Given the description of an element on the screen output the (x, y) to click on. 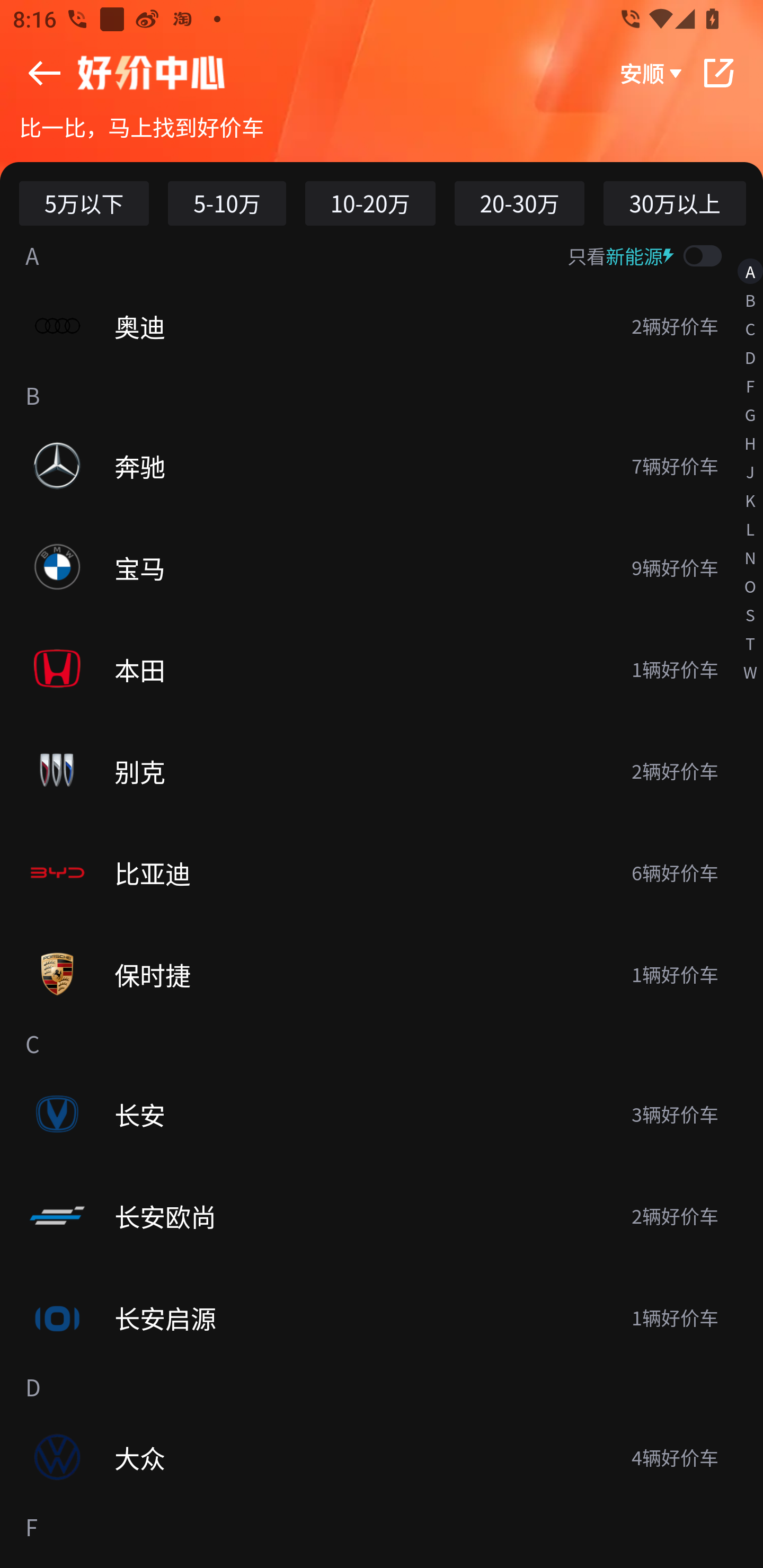
安顺 (381, 72)
安顺 (652, 72)
5万以下 (84, 203)
5-10万 (226, 203)
10-20万 (369, 203)
20-30万 (519, 203)
30万以上 (674, 203)
只看 新能源 (664, 255)
